Given the description of an element on the screen output the (x, y) to click on. 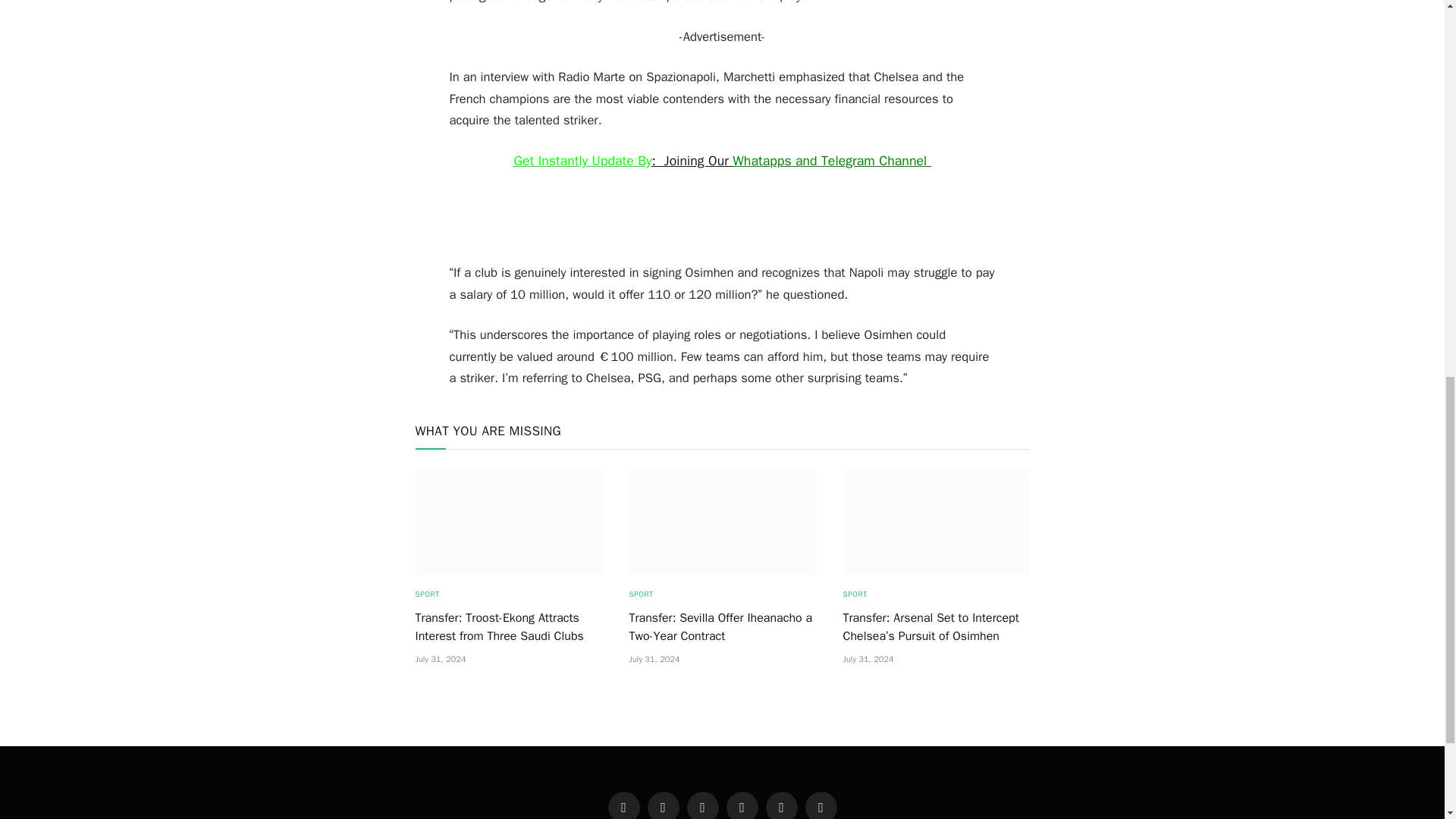
Whatapps and Telegram Channel  (831, 160)
Transfer: Sevilla Offer Iheanacho a Two-Year Contract (721, 521)
